Given the description of an element on the screen output the (x, y) to click on. 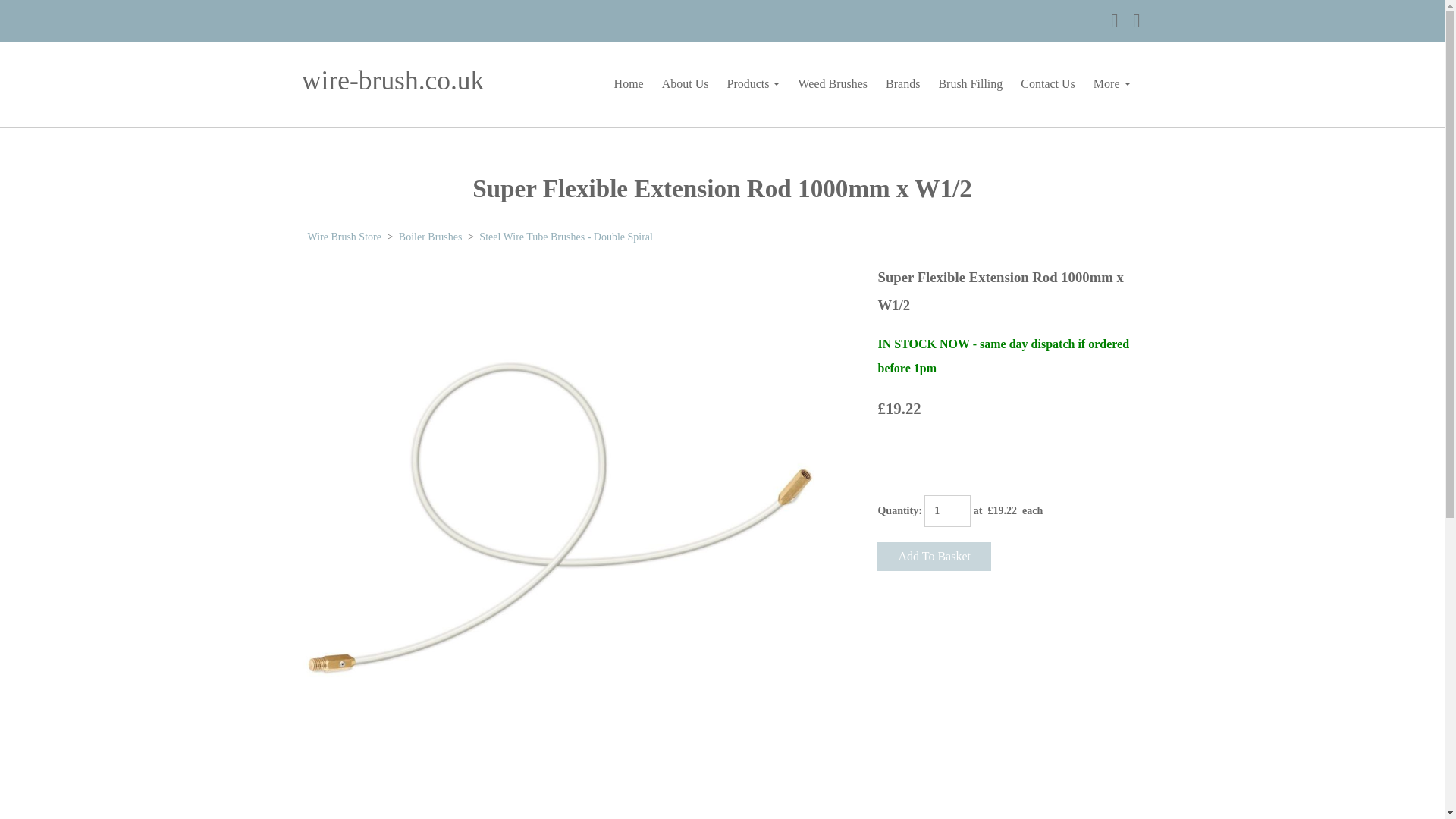
Products (753, 83)
Home (628, 83)
wire-brush.co.uk (411, 84)
1 (947, 511)
About Us (684, 83)
wire-brush.co.uk (411, 83)
